Given the description of an element on the screen output the (x, y) to click on. 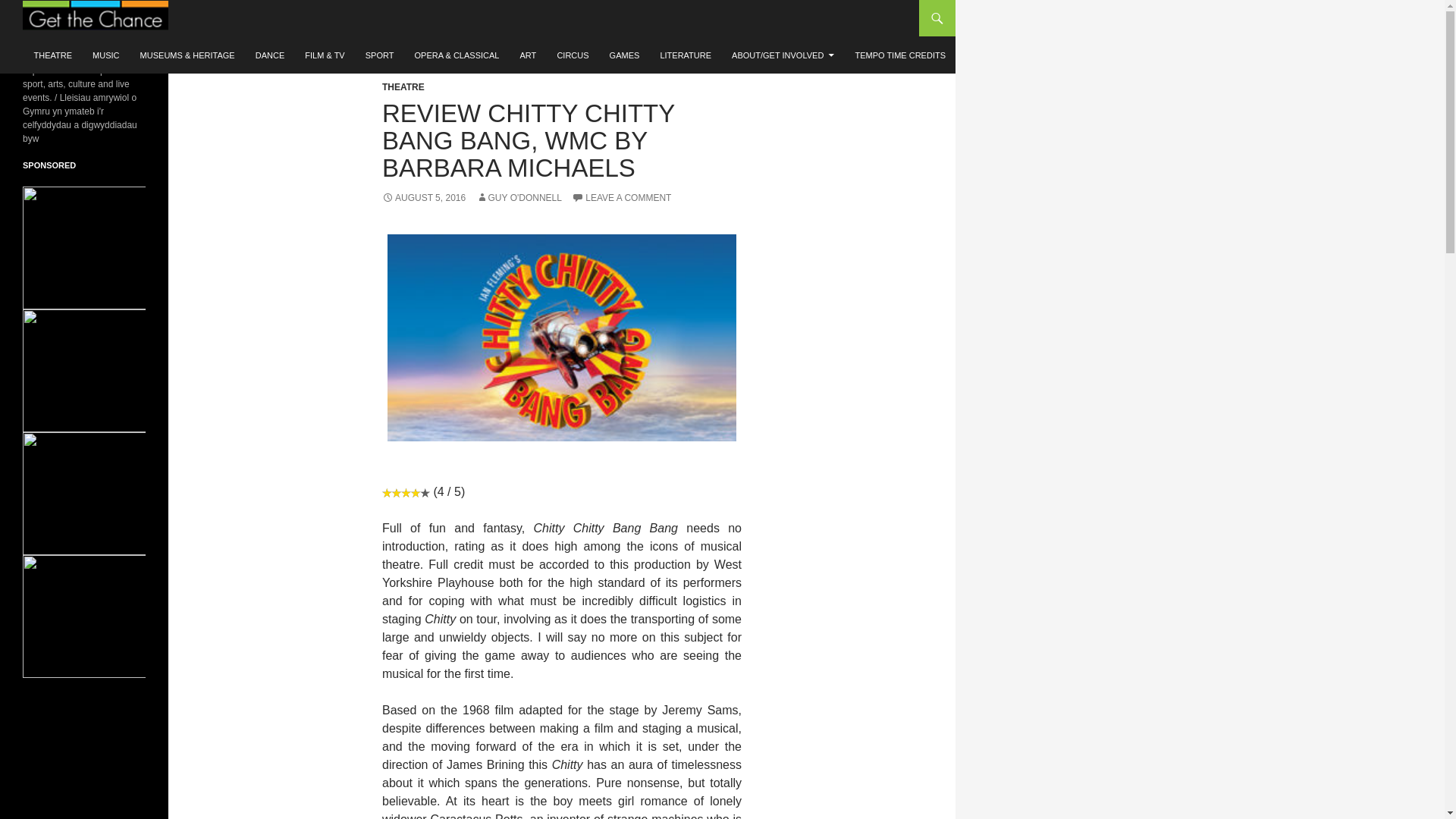
REVIEW CHITTY CHITTY BANG BANG, WMC BY BARBARA MICHAELS (528, 140)
SPORT (379, 54)
GUY O'DONNELL (519, 197)
THEATRE (52, 54)
GAMES (624, 54)
TEMPO TIME CREDITS (900, 54)
THEATRE (403, 86)
AUGUST 5, 2016 (423, 197)
ART (528, 54)
MUSIC (105, 54)
